Given the description of an element on the screen output the (x, y) to click on. 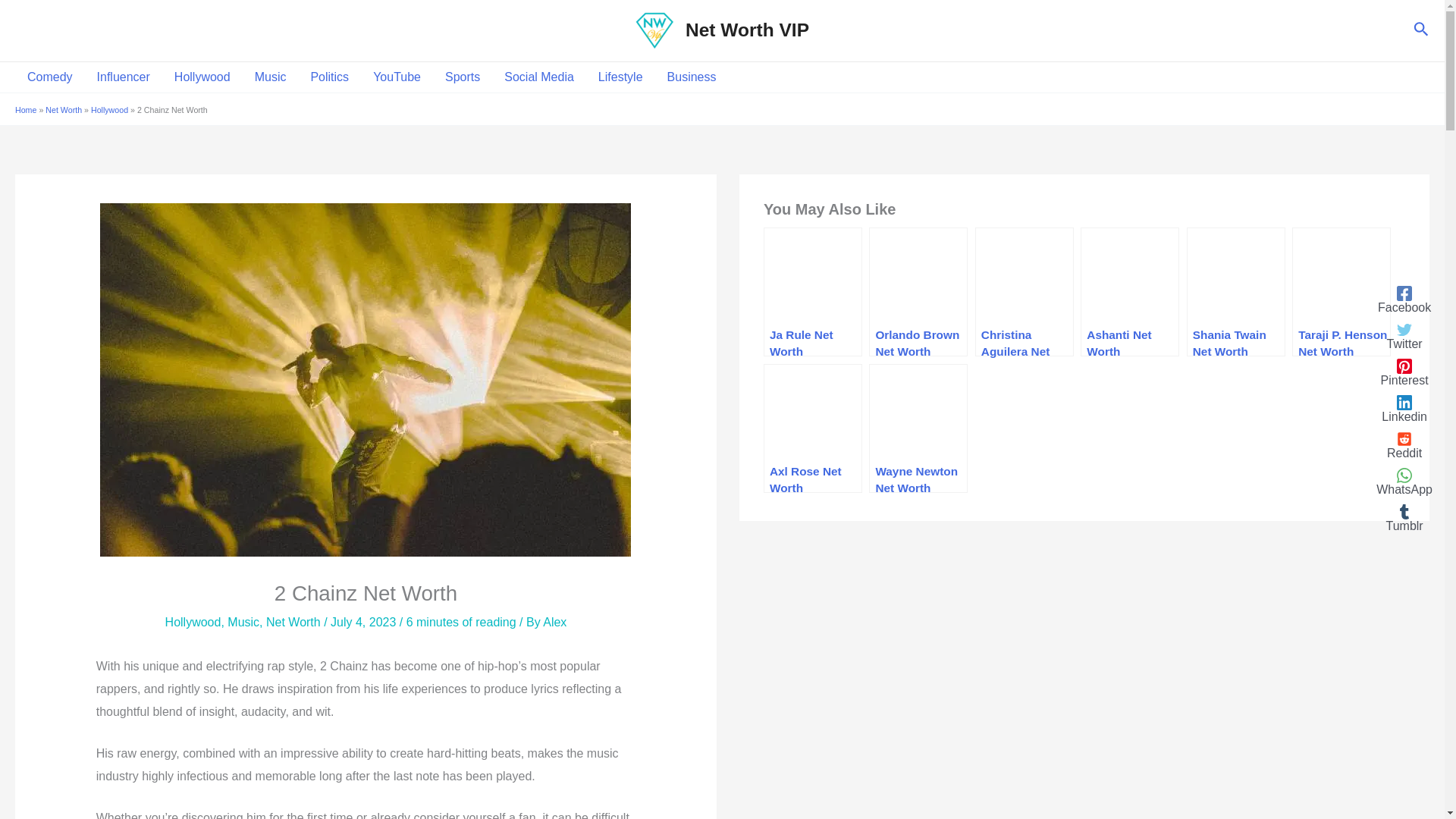
Net Worth VIP (747, 29)
Influencer (122, 77)
View all posts by Alex (554, 621)
Sports (462, 77)
Politics (329, 77)
Social Media (539, 77)
Hollywood (202, 77)
Comedy (49, 77)
Lifestyle (620, 77)
Business (692, 77)
Music (270, 77)
YouTube (396, 77)
